Given the description of an element on the screen output the (x, y) to click on. 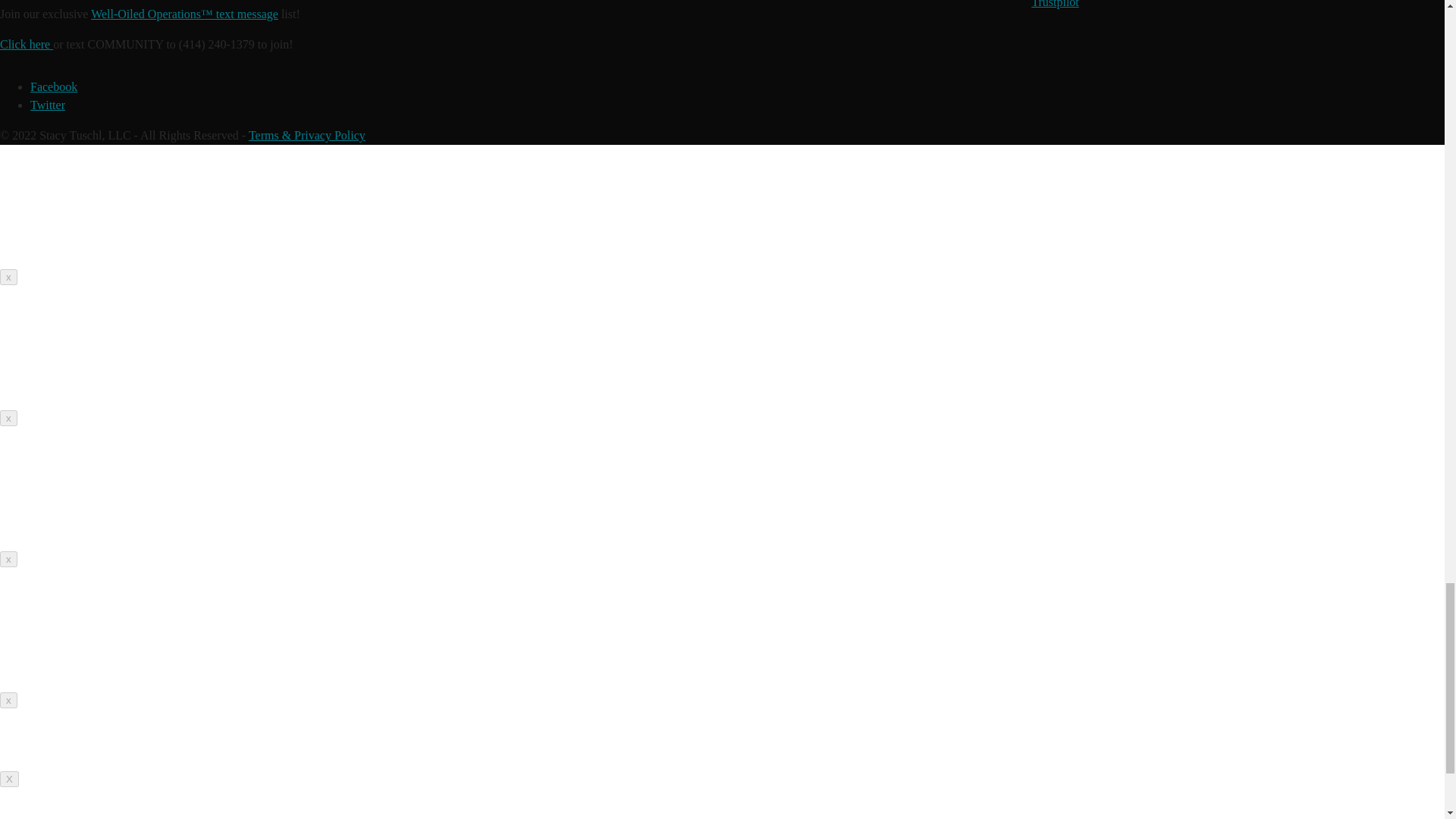
Twitter (47, 104)
Trustpilot (1054, 4)
Click here (26, 43)
Facebook (53, 86)
x (8, 277)
